Given the description of an element on the screen output the (x, y) to click on. 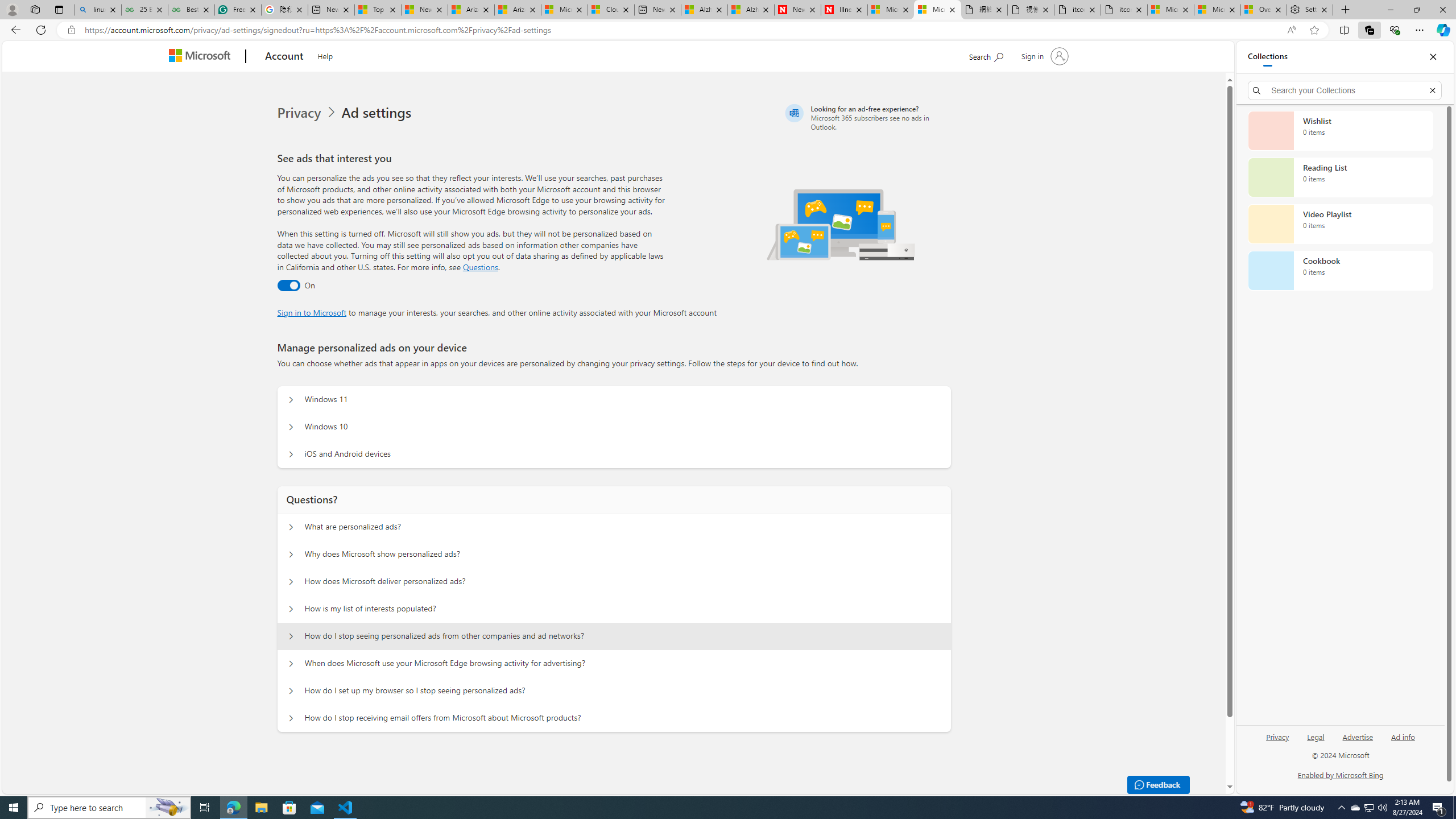
Exit search (1432, 90)
Video Playlist collection, 0 items (1339, 223)
Illness news & latest pictures from Newsweek.com (844, 9)
Illustration of multiple devices (840, 224)
News - MSN (424, 9)
Cloud Computing Services | Microsoft Azure (610, 9)
